Given the description of an element on the screen output the (x, y) to click on. 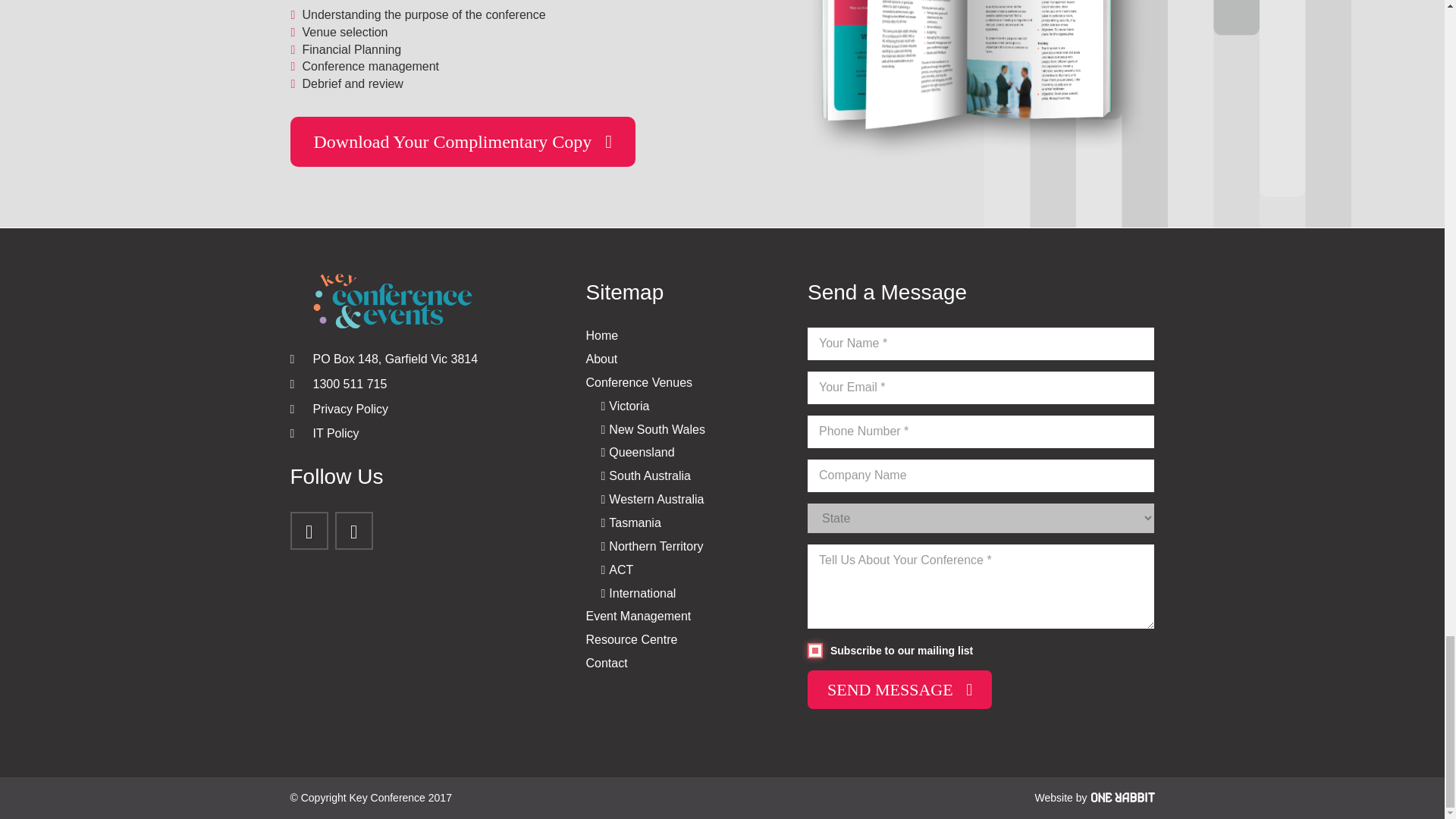
Download Your Complimentary Copy (461, 142)
Privacy Policy (350, 408)
IT Policy (335, 432)
1 (815, 650)
